Given the description of an element on the screen output the (x, y) to click on. 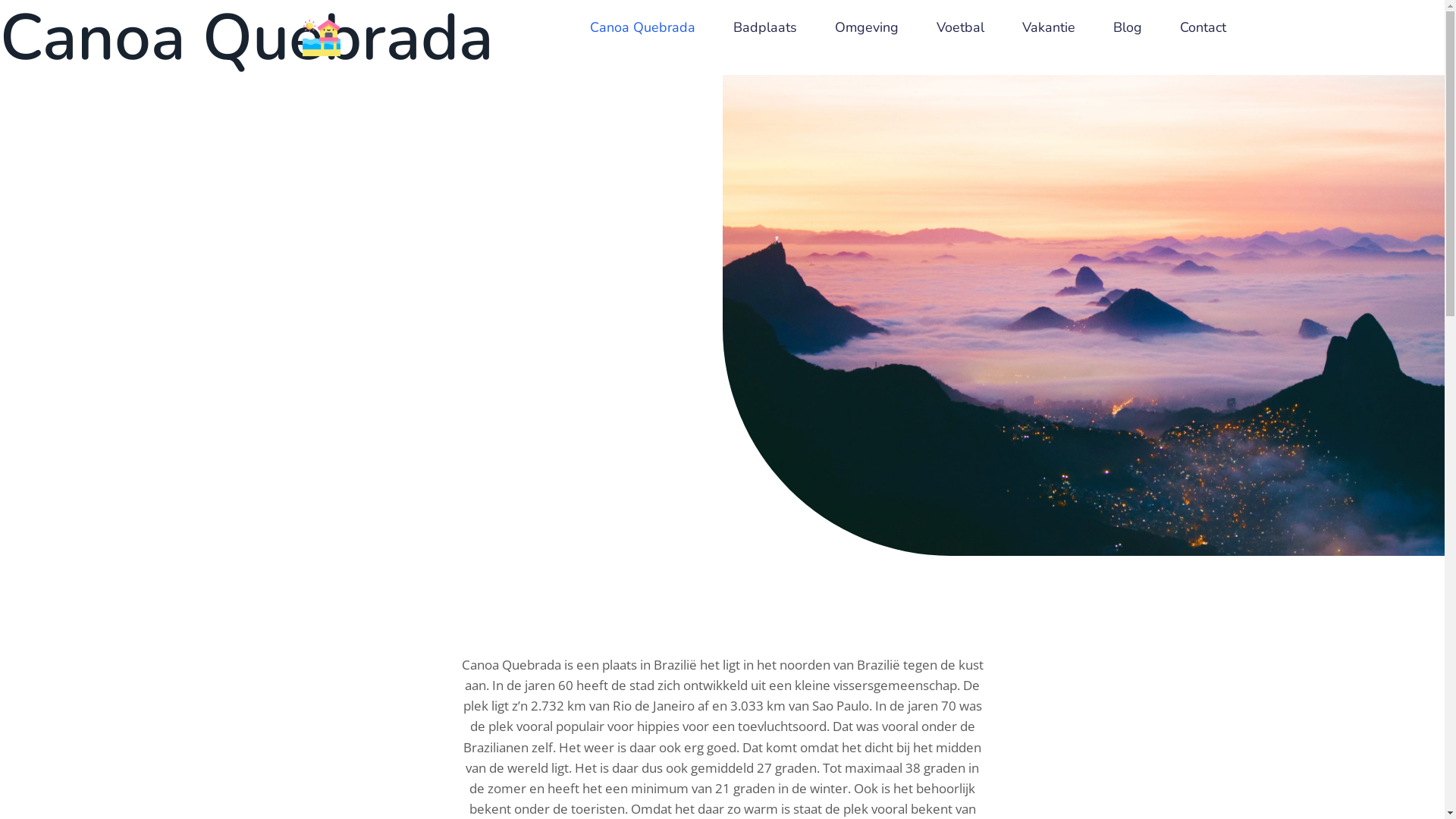
Vakantie Element type: text (1048, 27)
Contact Element type: text (1202, 27)
Voetbal Element type: text (960, 27)
Blog Element type: text (1127, 27)
Omgeving Element type: text (866, 27)
beach-house Element type: hover (321, 37)
Canoa Quebrada Element type: text (642, 27)
Badplaats Element type: text (765, 27)
